Given the description of an element on the screen output the (x, y) to click on. 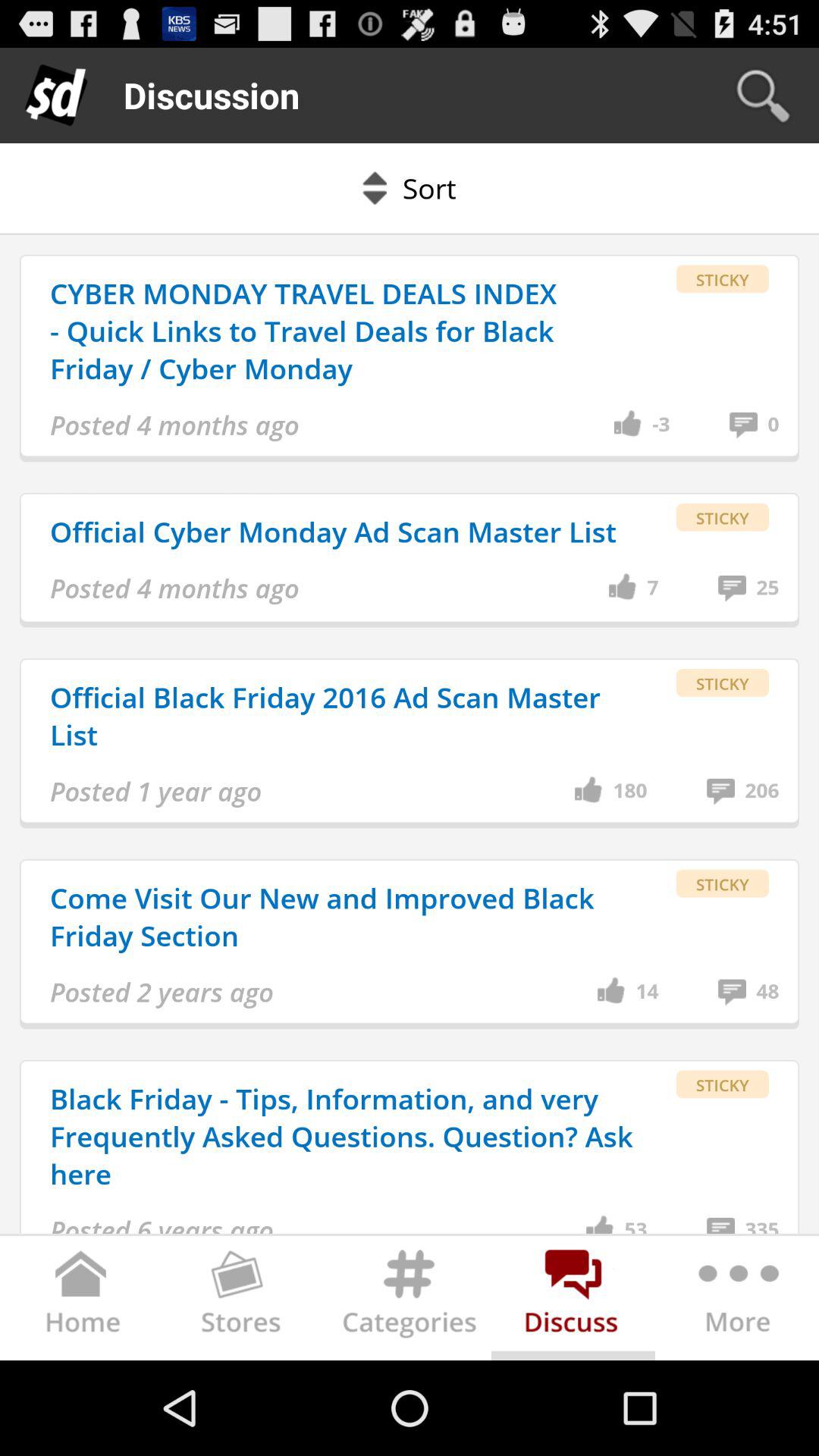
scroll until the -3 app (660, 425)
